Given the description of an element on the screen output the (x, y) to click on. 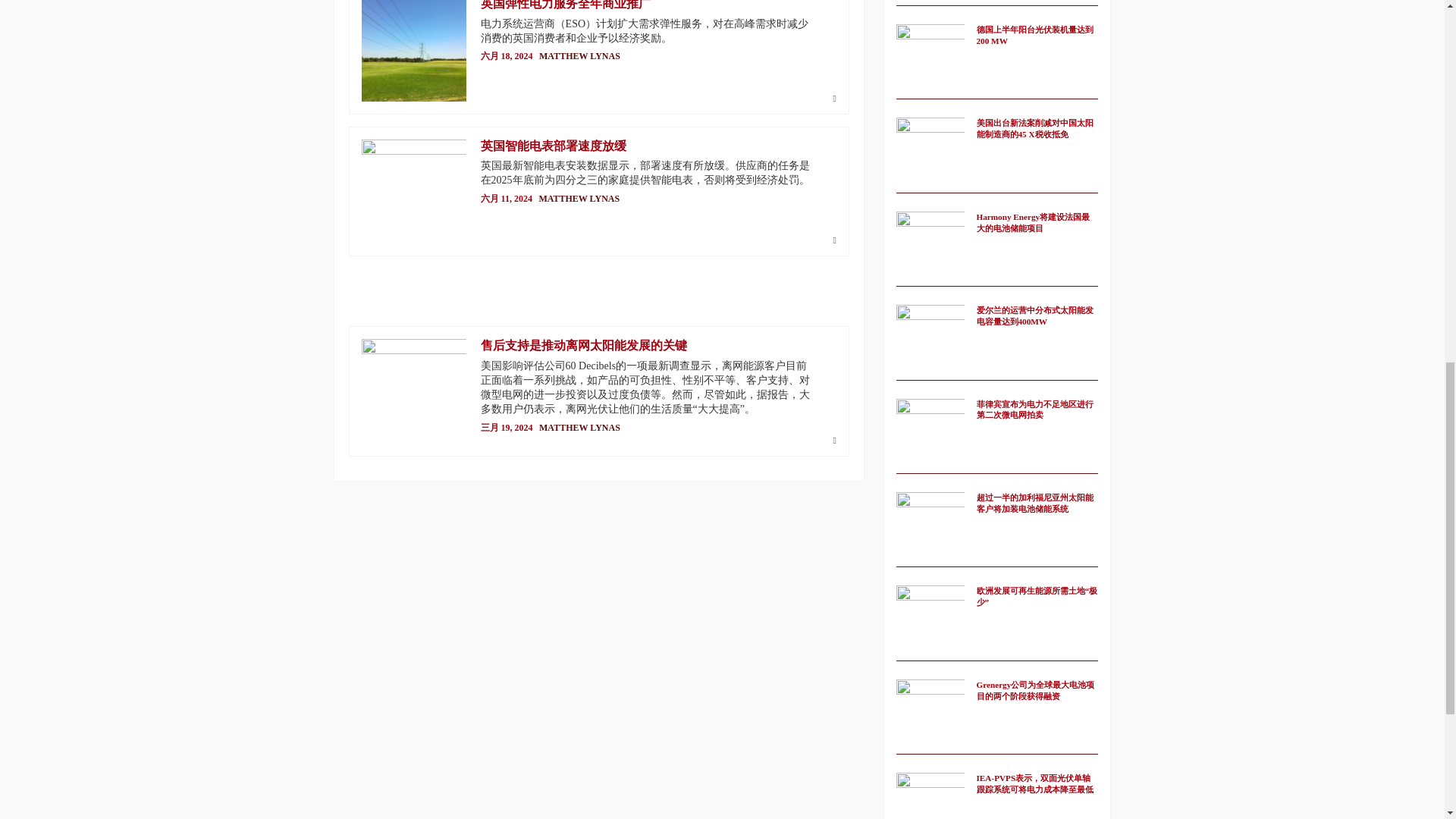
Posts by Matthew Lynas (579, 198)
Posts by Matthew Lynas (579, 427)
Posts by Matthew Lynas (579, 55)
